Given the description of an element on the screen output the (x, y) to click on. 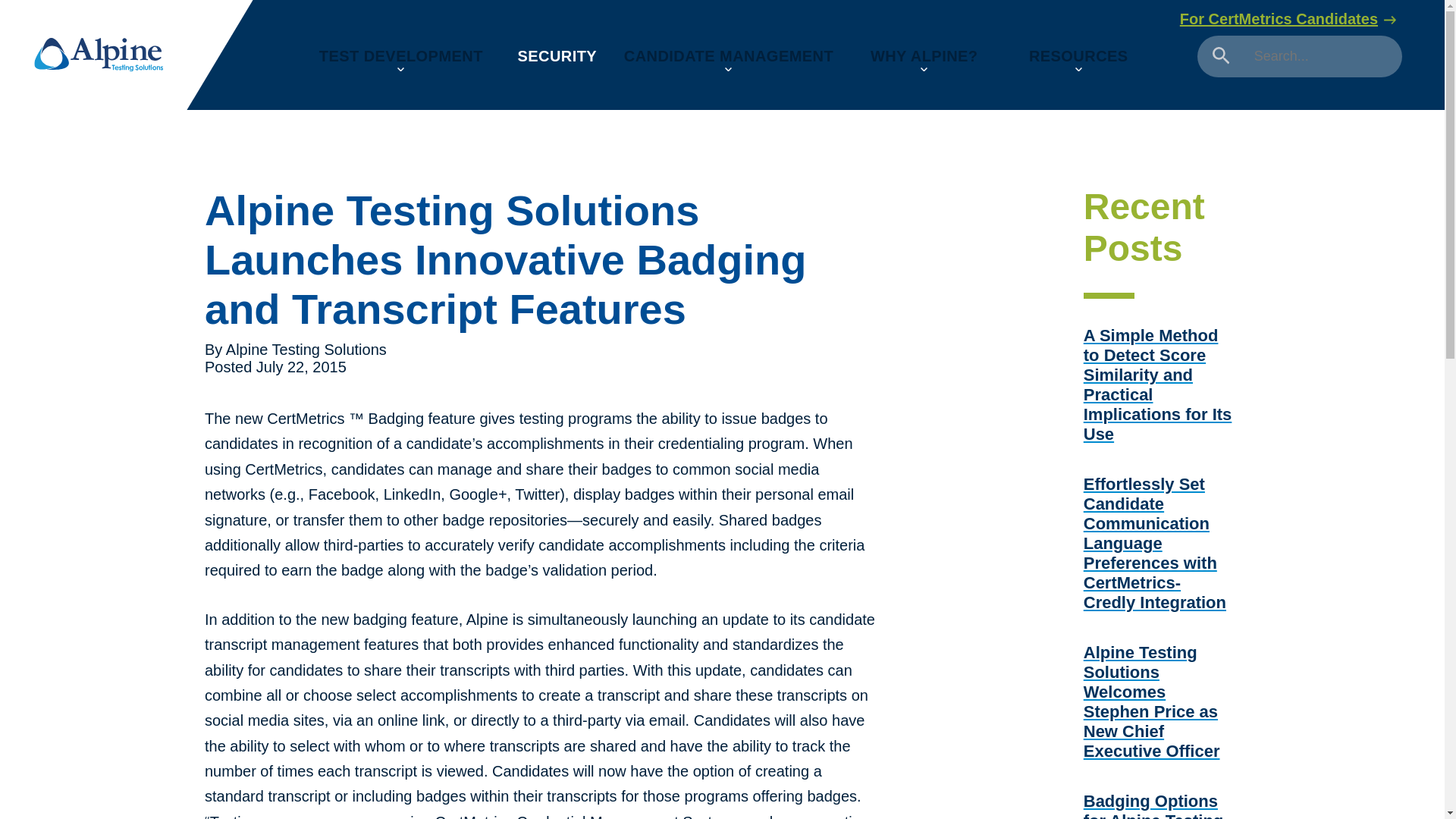
ALPINE logo link to homepage (98, 54)
white-arrow (1390, 19)
Search Icon (1221, 54)
CANDIDATE MANAGEMENT (728, 57)
RESOURCES (1077, 57)
TEST DEVELOPMENT (400, 57)
WHY ALPINE? (924, 57)
SECURITY (556, 56)
